Given the description of an element on the screen output the (x, y) to click on. 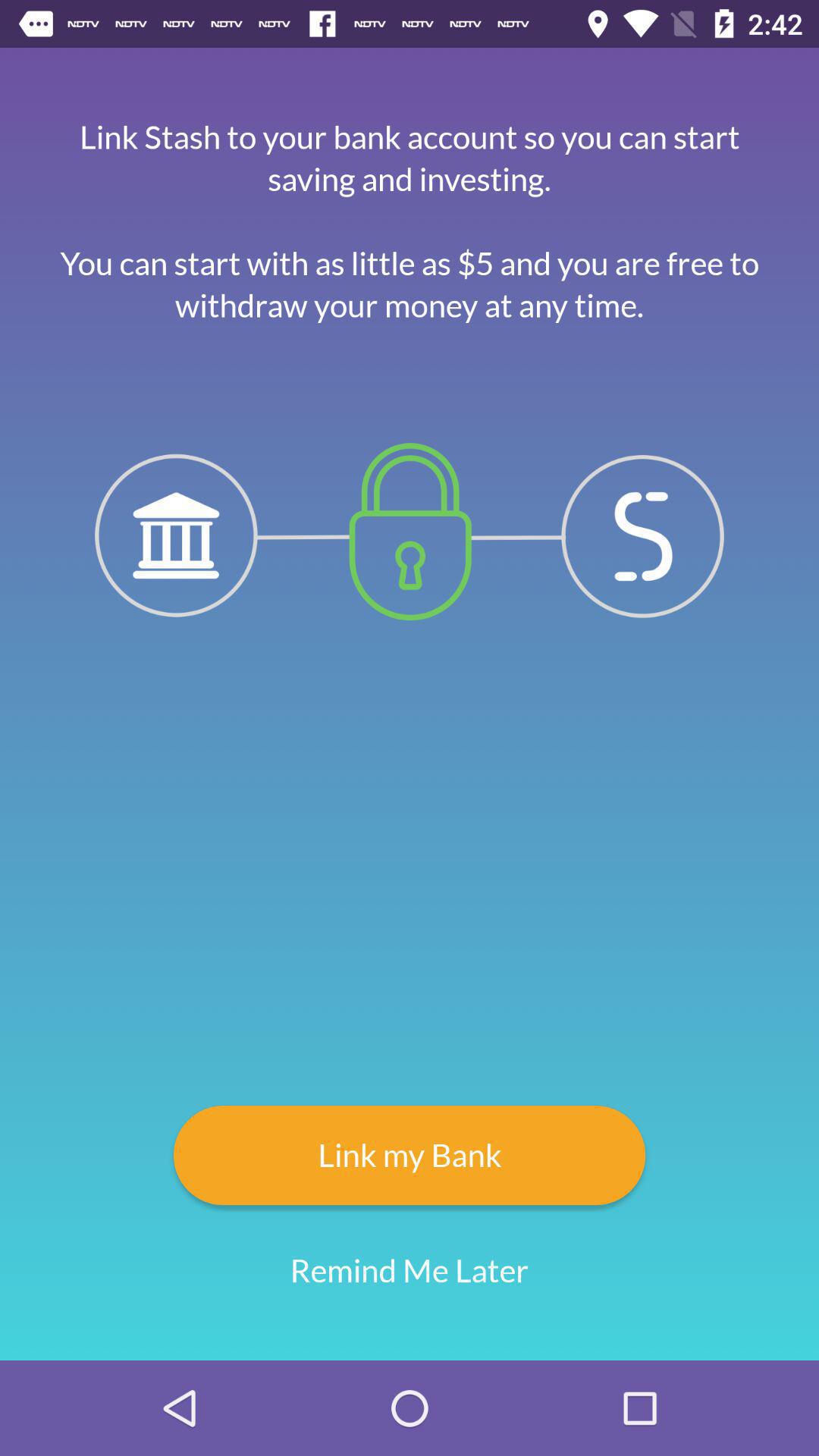
scroll to the remind me later item (409, 1270)
